Given the description of an element on the screen output the (x, y) to click on. 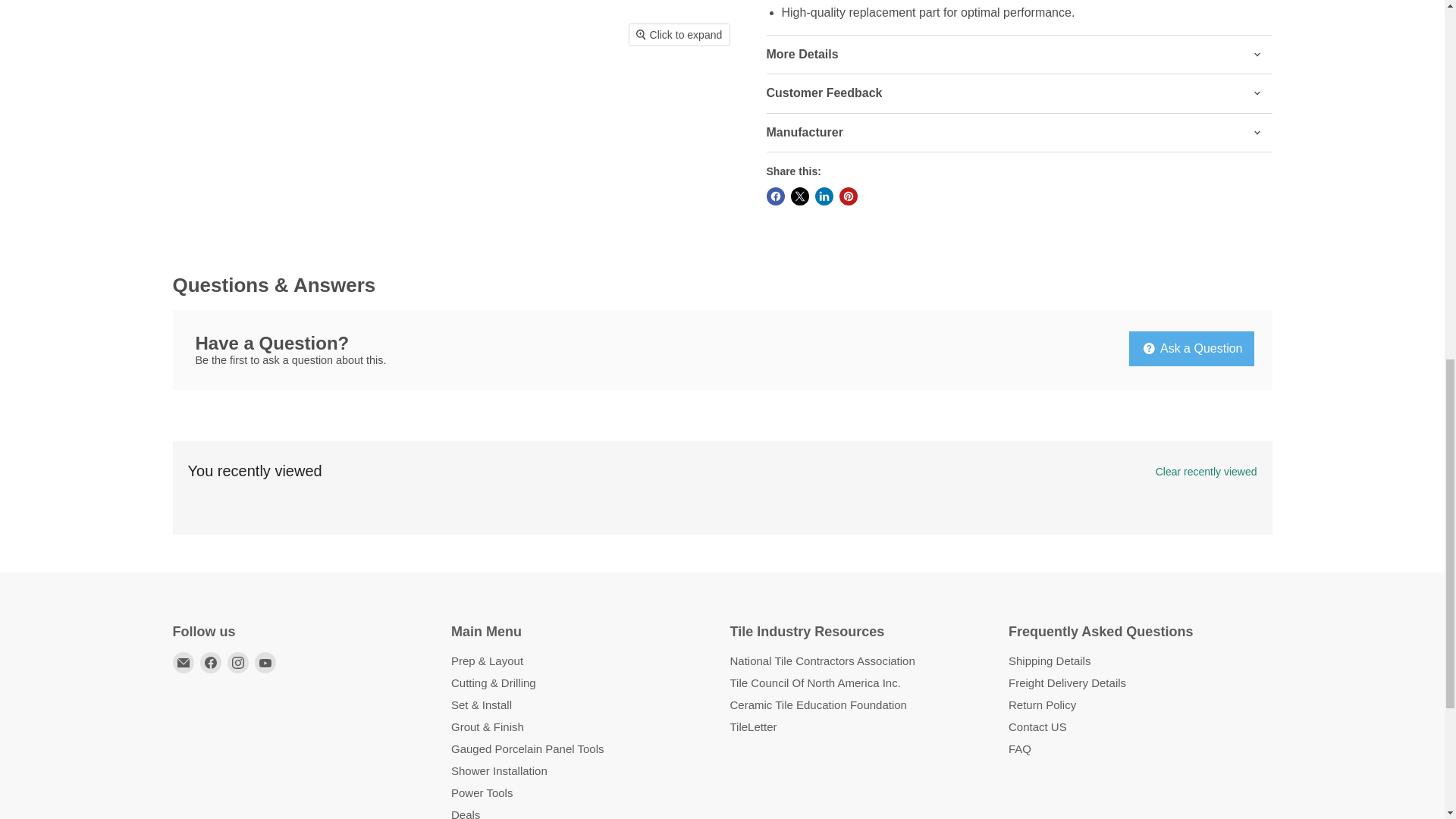
Instagram (237, 662)
YouTube (265, 662)
Email (183, 662)
Facebook (210, 662)
